Given the description of an element on the screen output the (x, y) to click on. 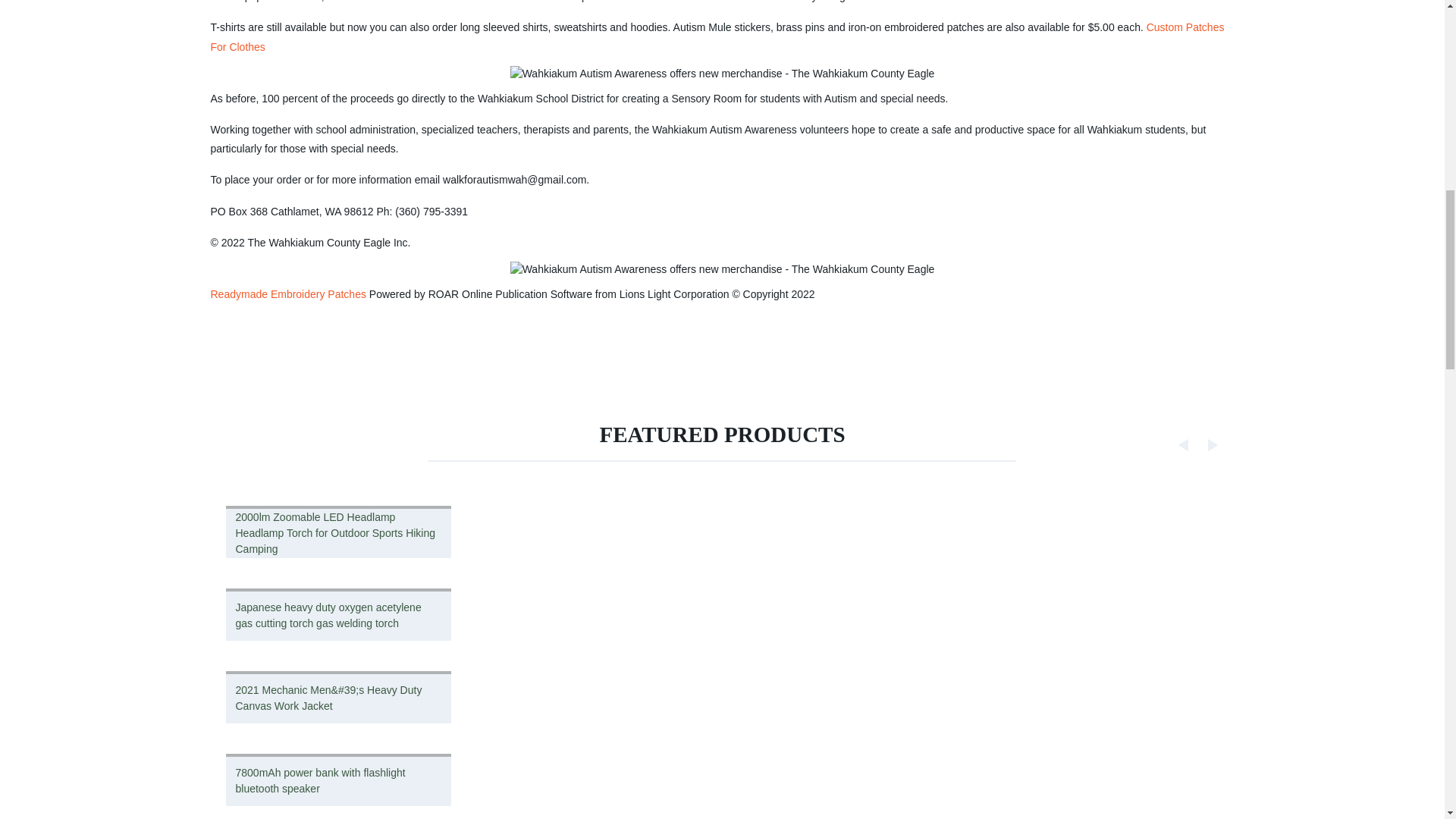
Readymade Embroidery Patches (288, 294)
7800mAh power bank with flashlight bluetooth speaker (339, 778)
Custom Patches For Clothes (717, 36)
